Given the description of an element on the screen output the (x, y) to click on. 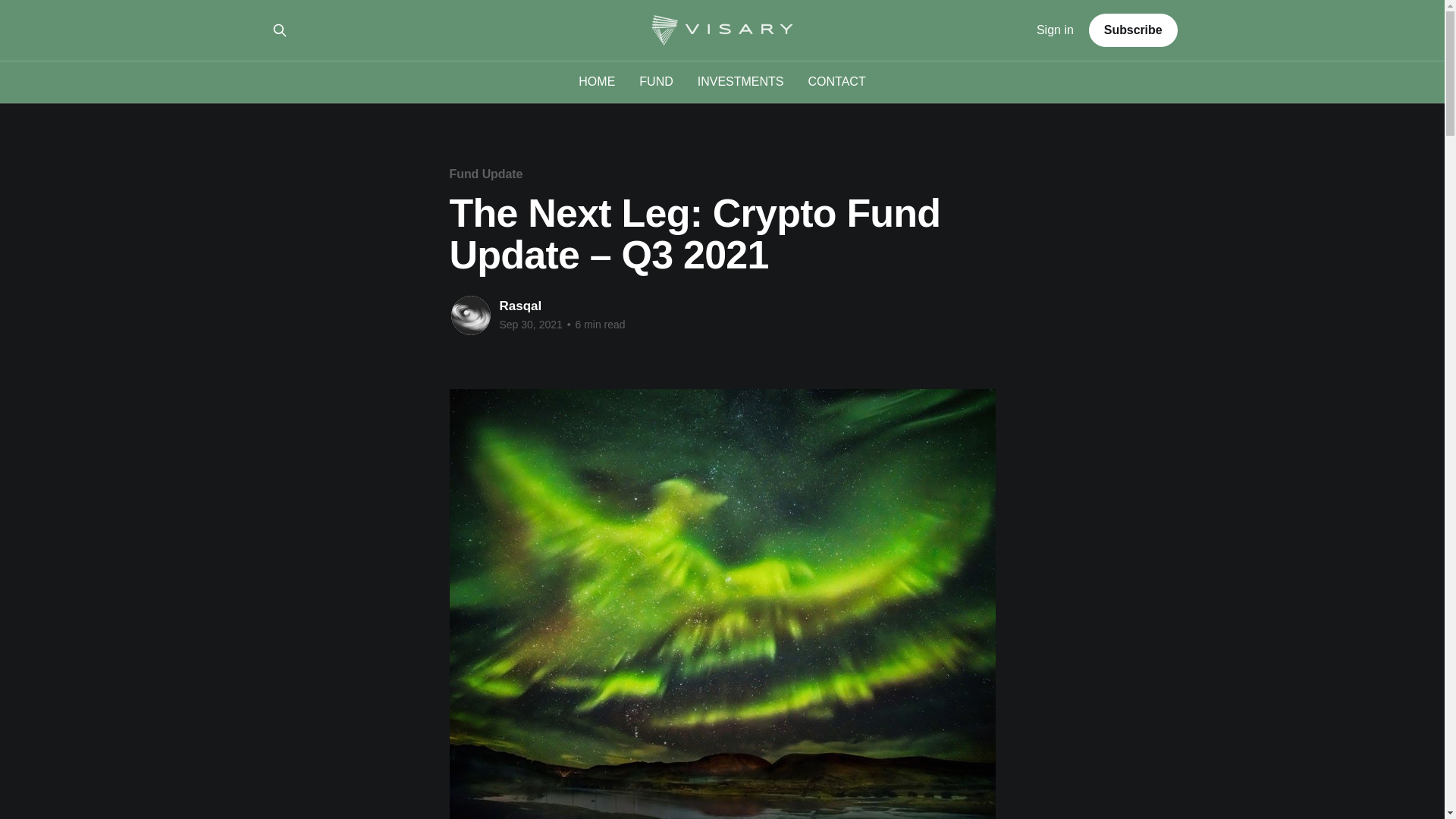
Fund Update (485, 173)
CONTACT (837, 81)
INVESTMENTS (740, 81)
Subscribe (1133, 29)
Sign in (1055, 30)
FUND (655, 81)
HOME (596, 81)
Rasqal (520, 305)
